Given the description of an element on the screen output the (x, y) to click on. 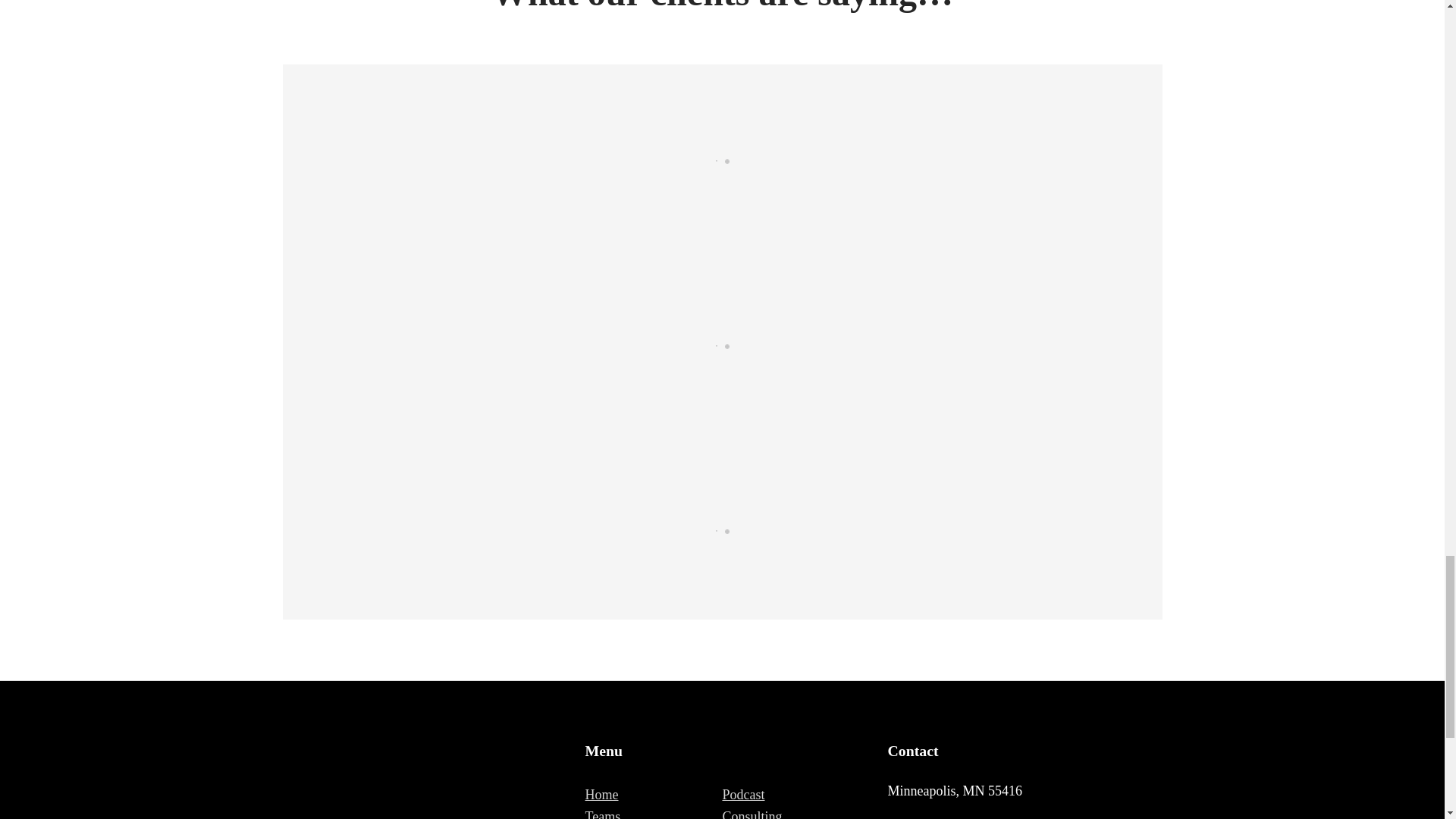
Home (601, 794)
Consulting (751, 814)
Teams (603, 814)
Podcast (743, 794)
